Given the description of an element on the screen output the (x, y) to click on. 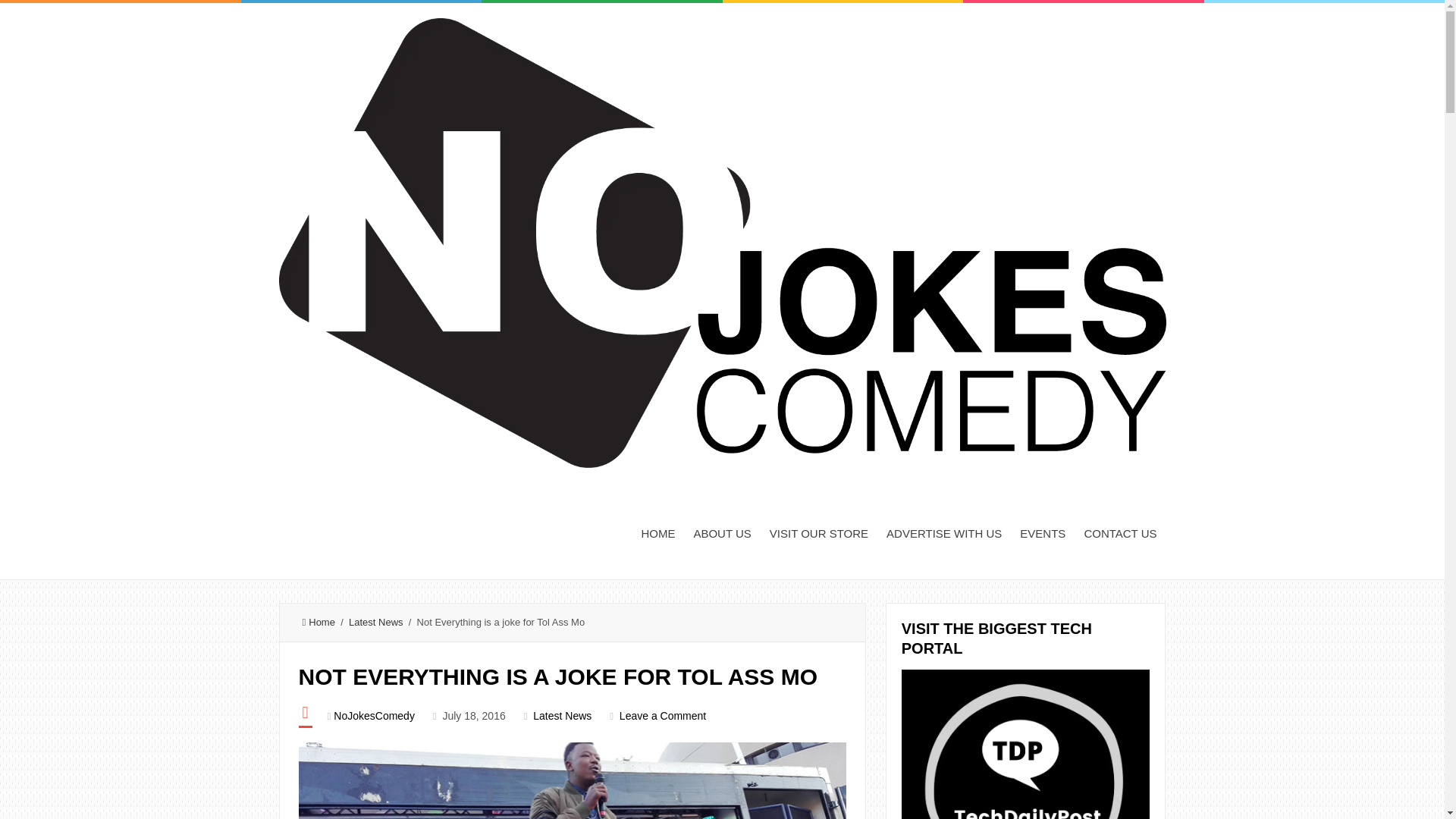
Posts by NoJokesComedy (373, 715)
Home (317, 622)
Leave a Comment (663, 715)
NoJokesComedy (373, 715)
CONTACT US (1120, 533)
Latest News (561, 715)
July 18, 2016 (473, 715)
Latest News (376, 622)
ADVERTISE WITH US (943, 533)
VISIT OUR STORE (818, 533)
